Given the description of an element on the screen output the (x, y) to click on. 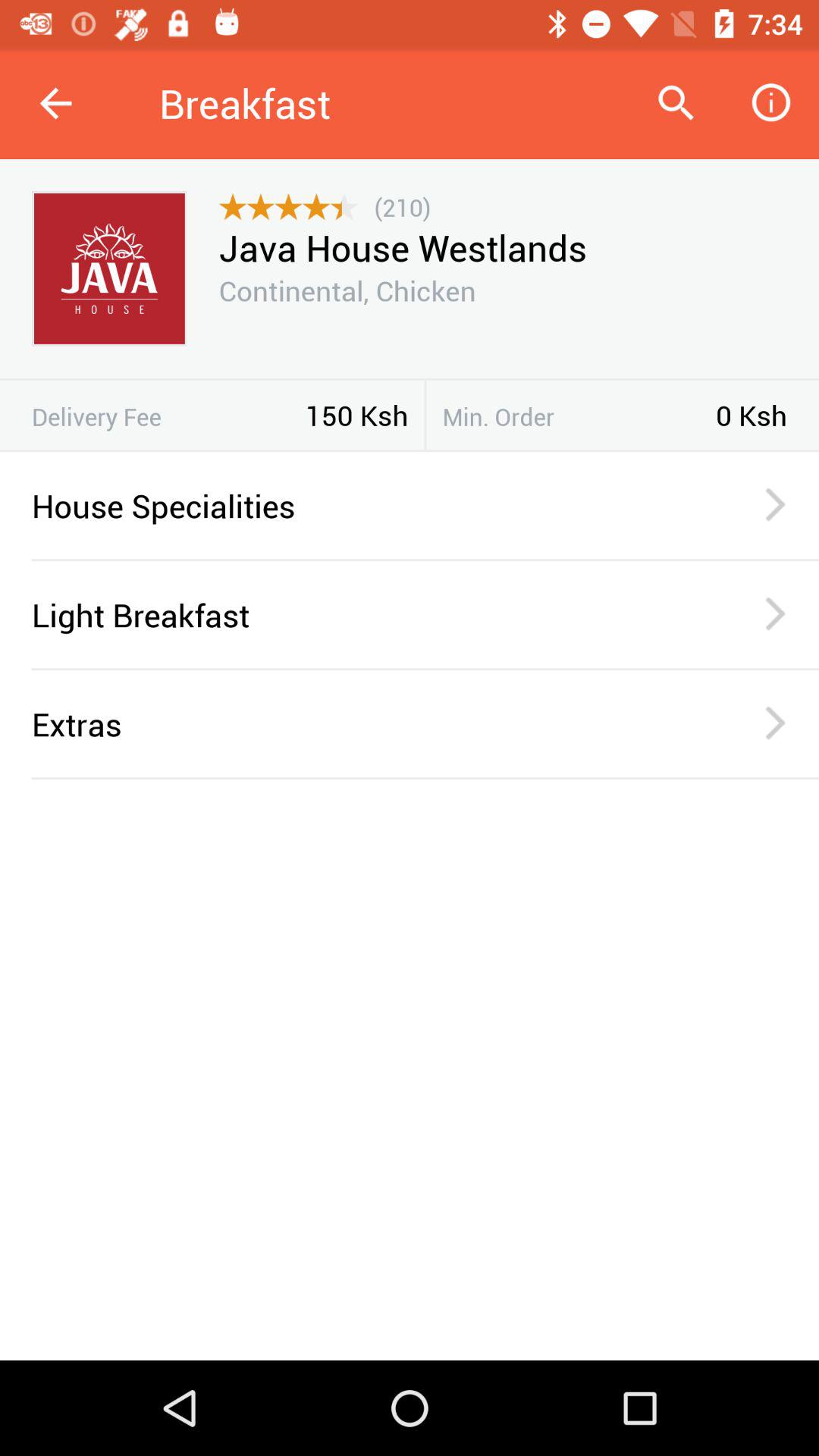
select icon below breakfast item (402, 207)
